Given the description of an element on the screen output the (x, y) to click on. 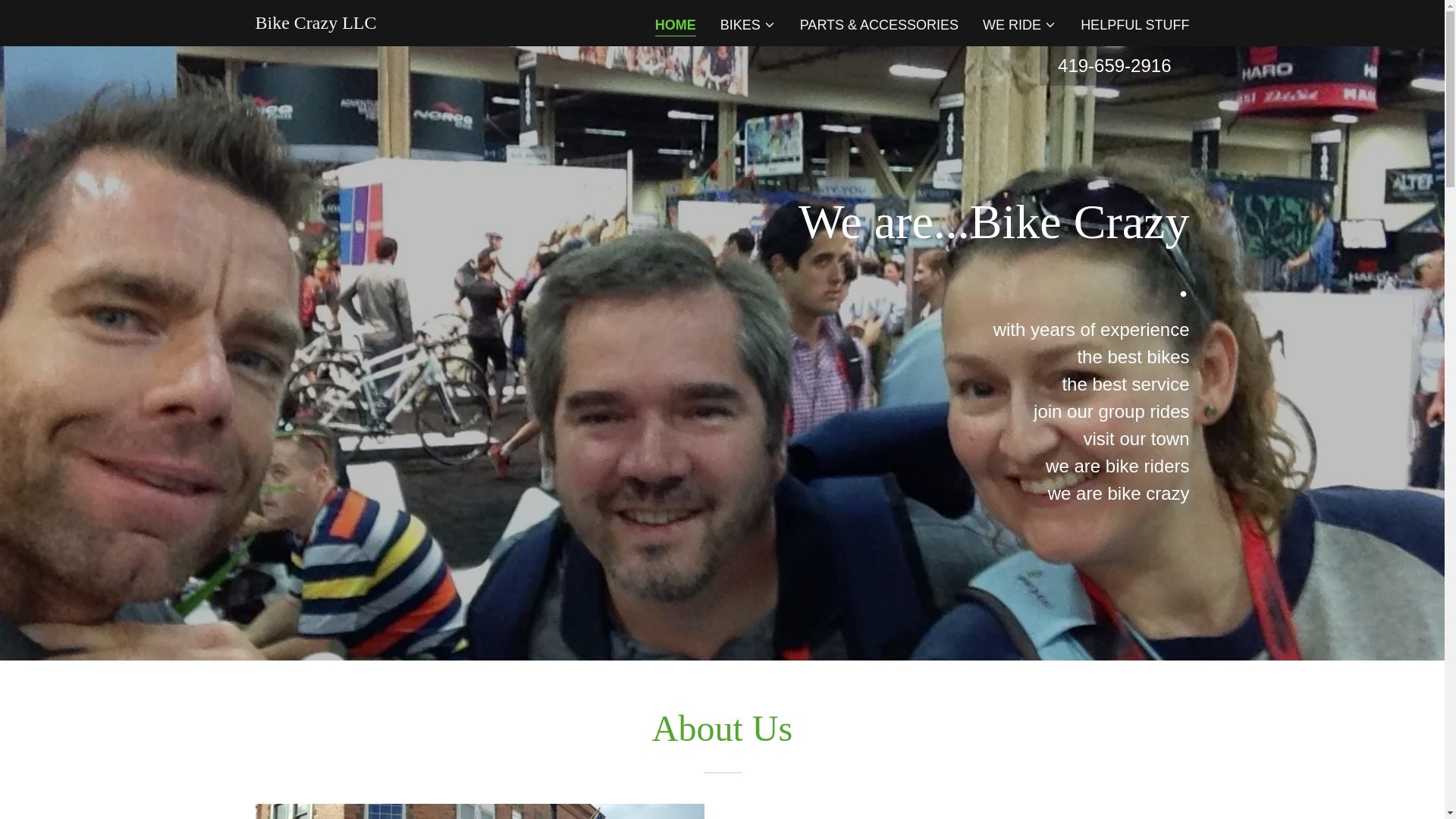
WE RIDE (1019, 24)
HELPFUL STUFF (1134, 24)
Bike Crazy LLC (314, 23)
BIKES (748, 24)
Bike Crazy LLC (314, 23)
HOME (675, 25)
